Given the description of an element on the screen output the (x, y) to click on. 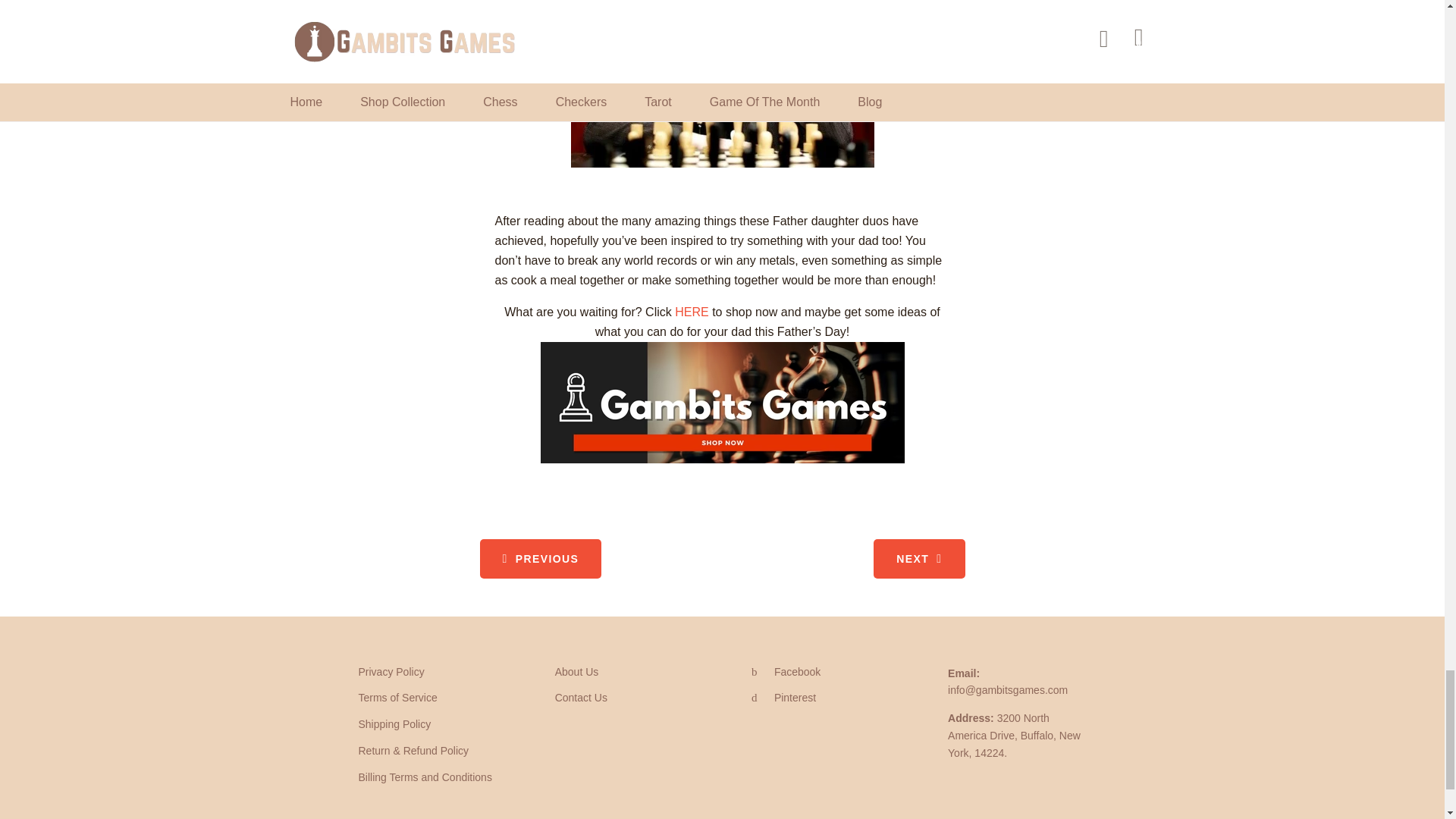
About Us (576, 671)
PREVIOUS (540, 558)
Shipping Policy (394, 724)
Billing Terms and Conditions (425, 776)
Terms of Service (397, 697)
Pinterest (783, 697)
Facebook (786, 671)
NEXT (918, 558)
Privacy Policy (390, 671)
Contact Us (580, 697)
